Given the description of an element on the screen output the (x, y) to click on. 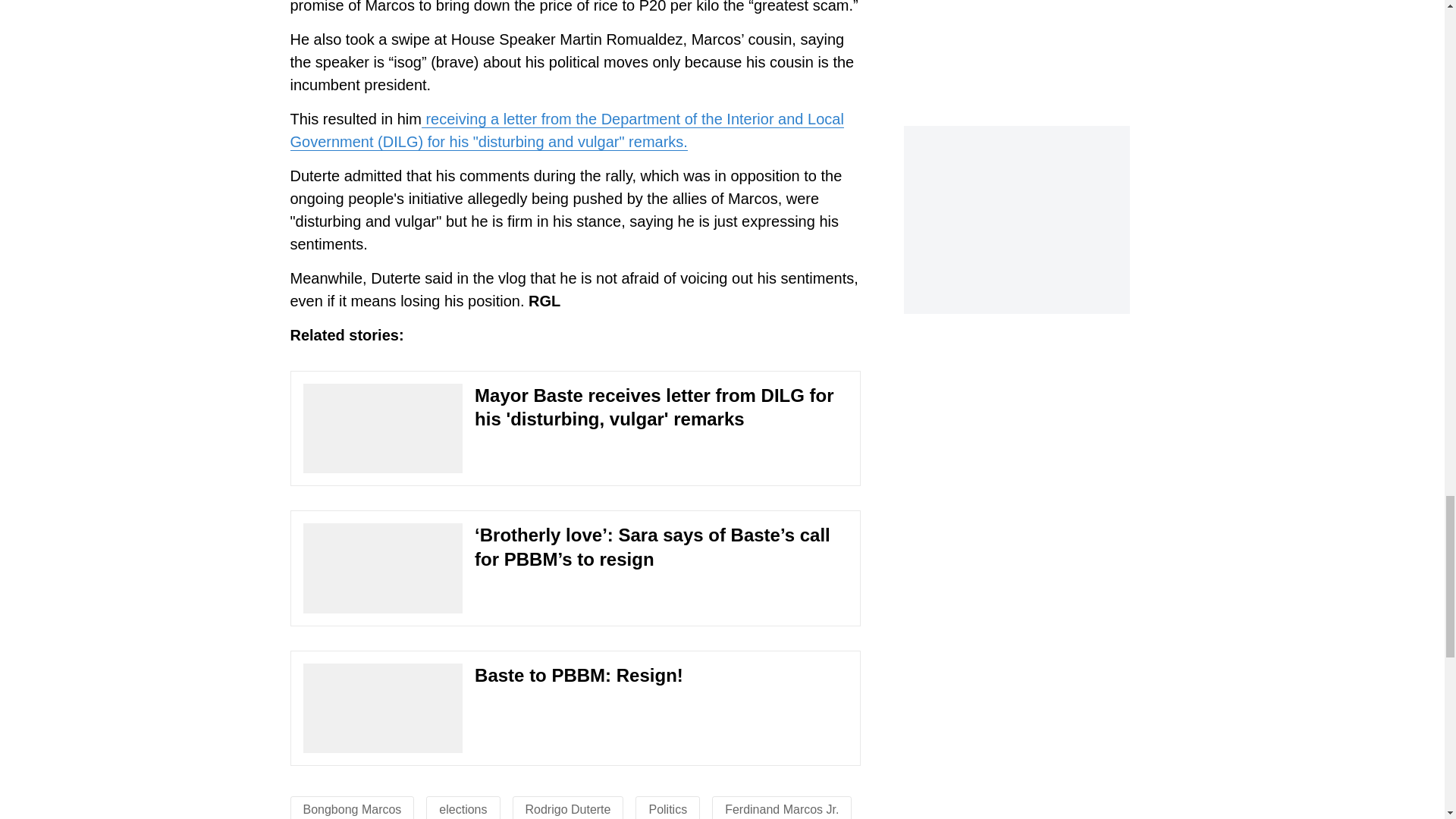
Politics (667, 809)
Bongbong Marcos (351, 809)
Baste to PBBM: Resign! (574, 707)
elections (462, 809)
Ferdinand Marcos Jr. (781, 809)
Rodrigo Duterte (568, 809)
